Given the description of an element on the screen output the (x, y) to click on. 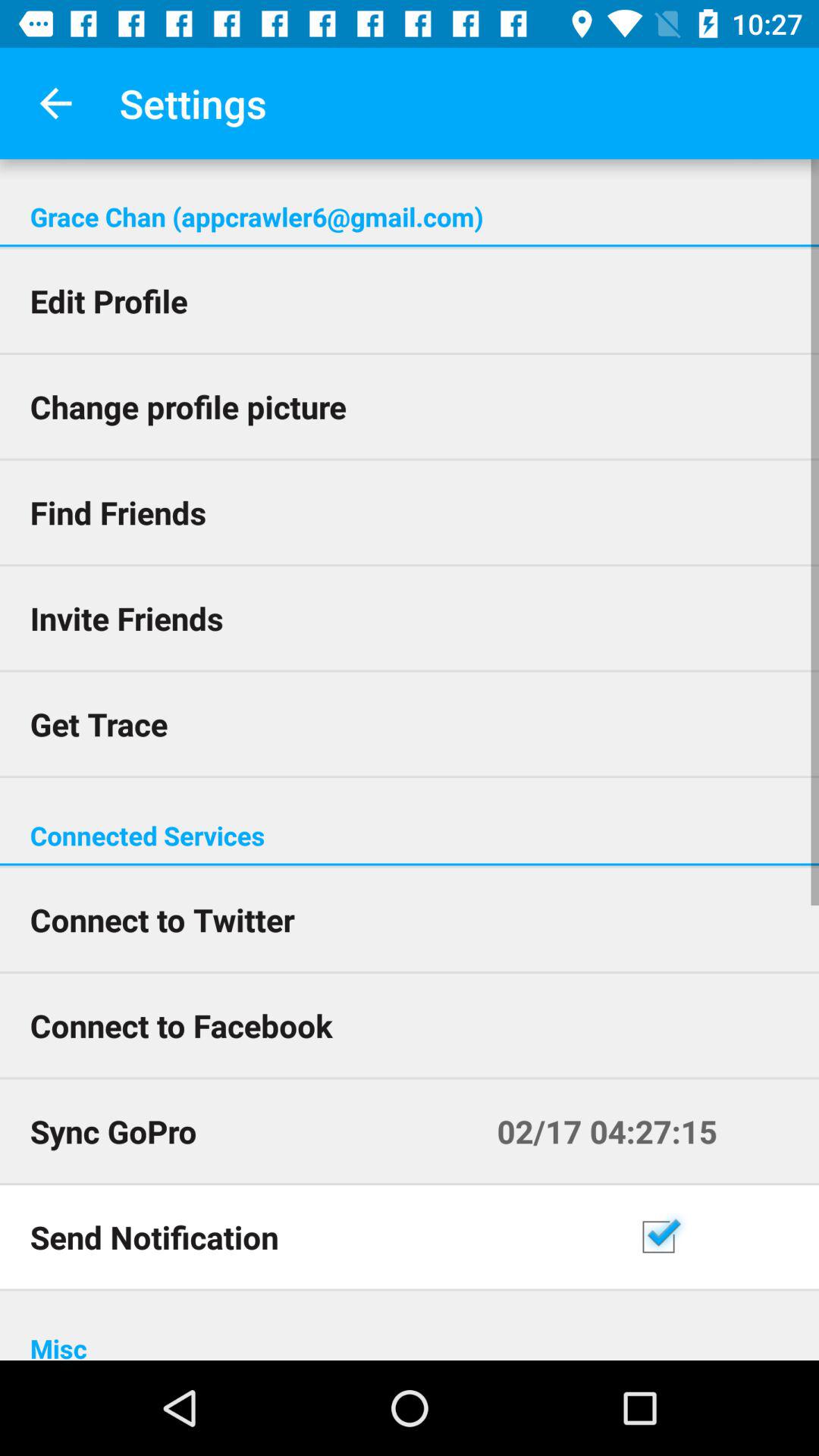
tap the icon above the grace chan appcrawler6 item (55, 103)
